Given the description of an element on the screen output the (x, y) to click on. 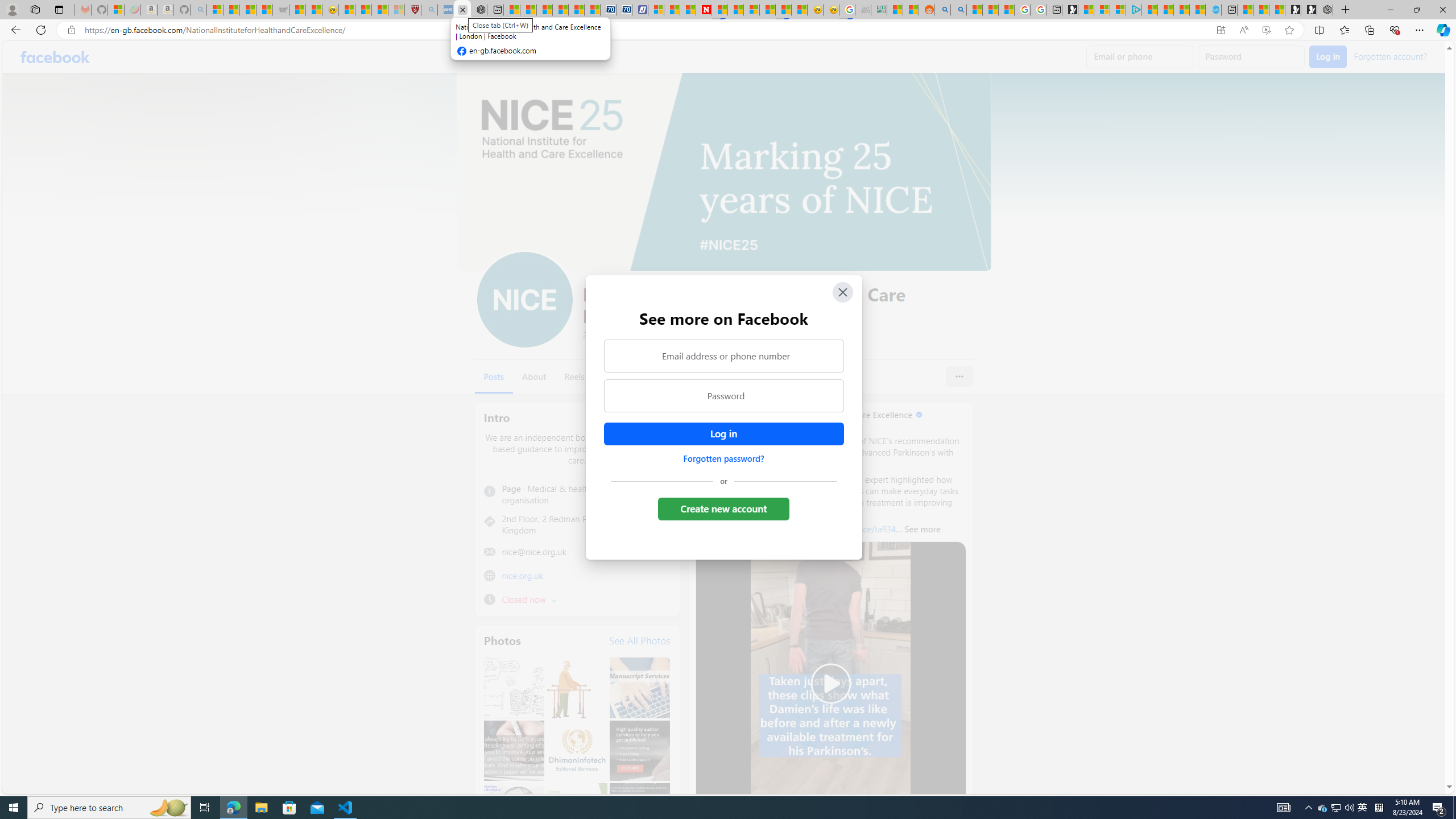
12 Popular Science Lies that Must be Corrected - Sleeping (395, 9)
Password (723, 395)
Enhance video (1266, 29)
